Given the description of an element on the screen output the (x, y) to click on. 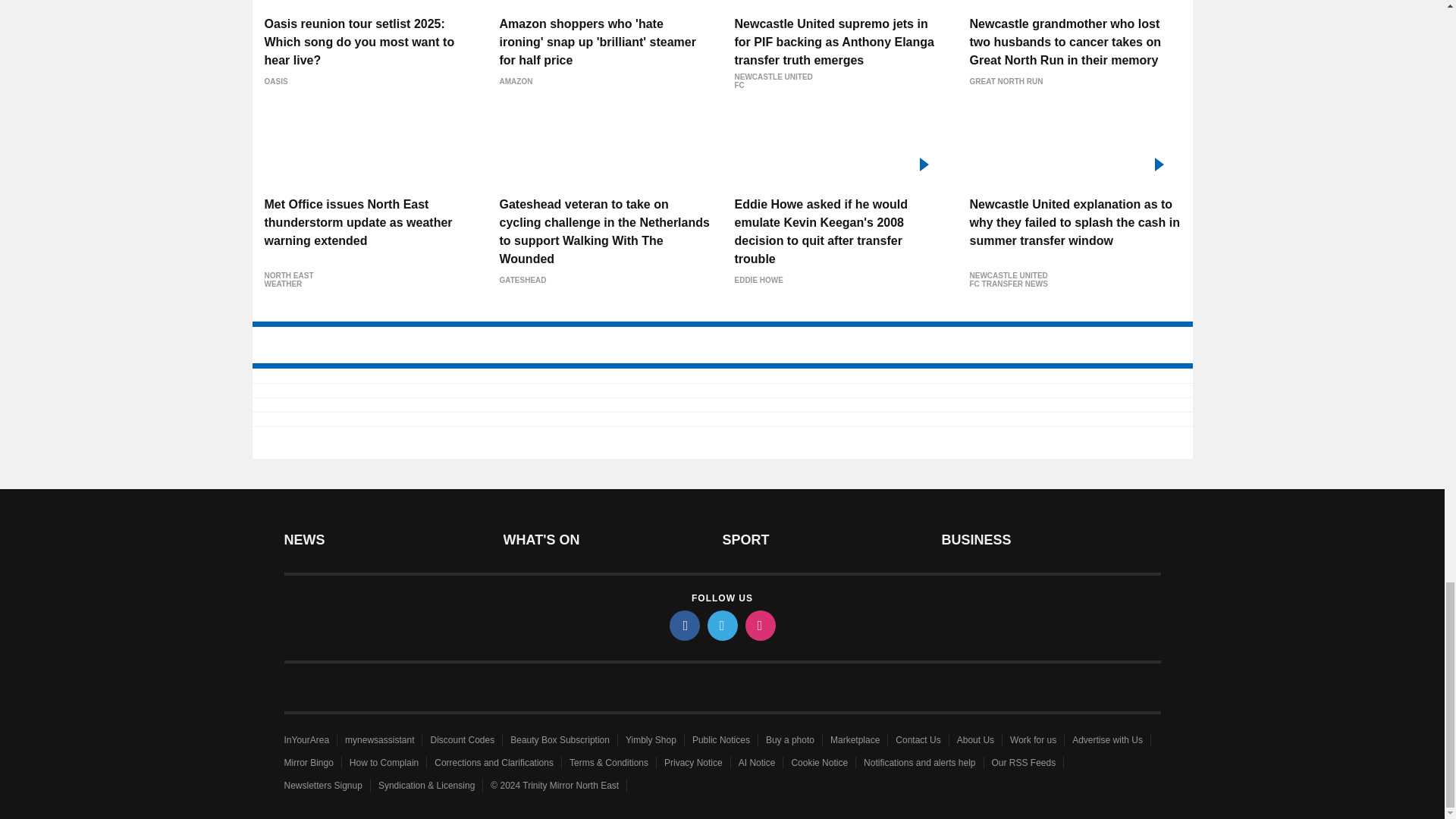
instagram (759, 625)
twitter (721, 625)
facebook (683, 625)
